Given the description of an element on the screen output the (x, y) to click on. 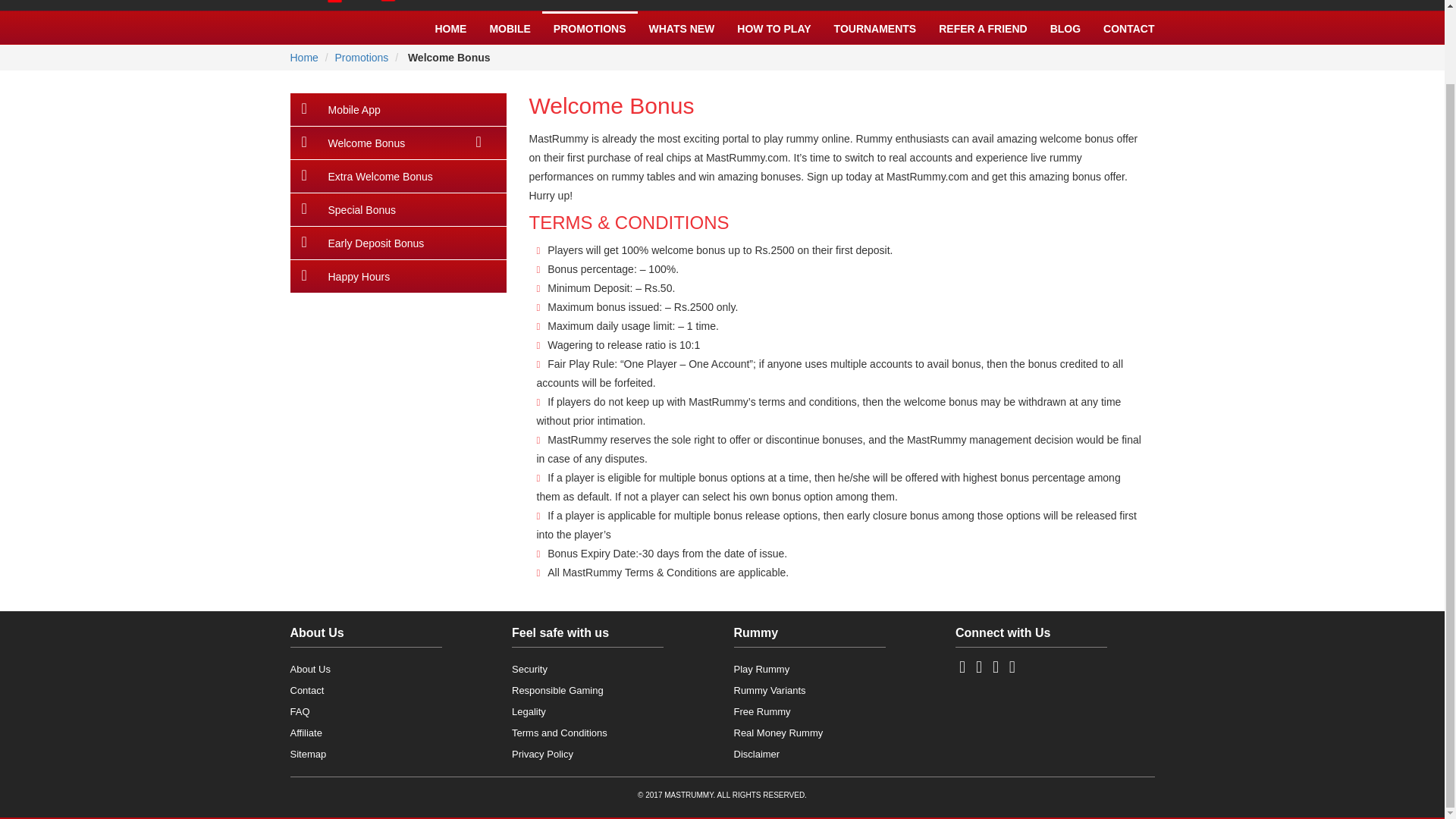
Special Bonus (398, 210)
Extra Welcome Bonus (398, 176)
Happy Hours (398, 276)
Real Money Rummy (778, 732)
Extra Welcome Bonus (398, 176)
Affiliate (305, 732)
Security (529, 668)
PROMOTIONS (589, 28)
Mobile App (398, 109)
Rummy Variants (769, 690)
